Given the description of an element on the screen output the (x, y) to click on. 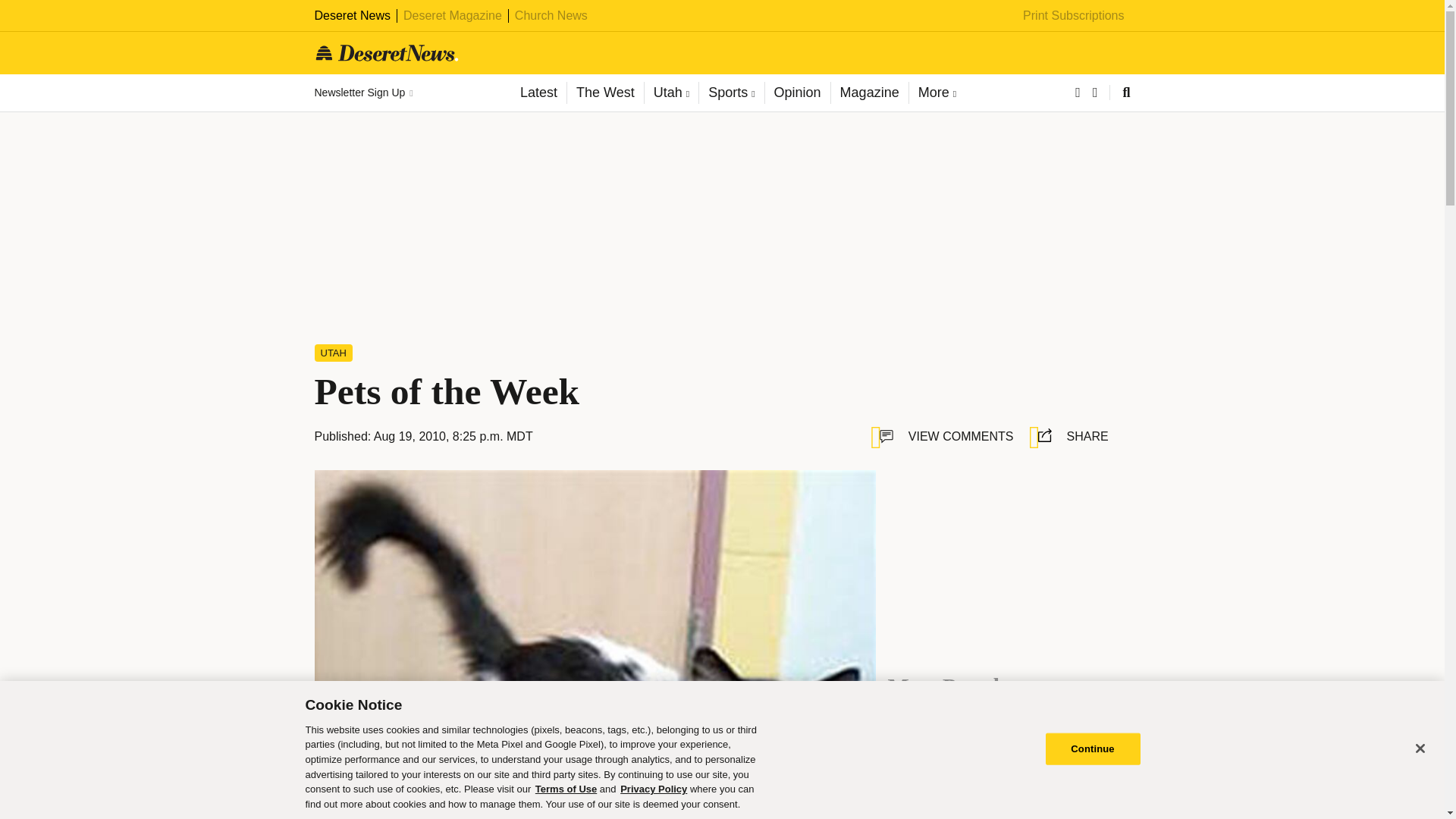
Print Subscriptions (1073, 15)
Latest (538, 92)
UTAH (333, 352)
Sports (730, 92)
Newsletter Sign Up (363, 92)
Magazine (868, 92)
Deseret Magazine (452, 15)
Church News (551, 15)
Opinion (796, 92)
The West (604, 92)
